Given the description of an element on the screen output the (x, y) to click on. 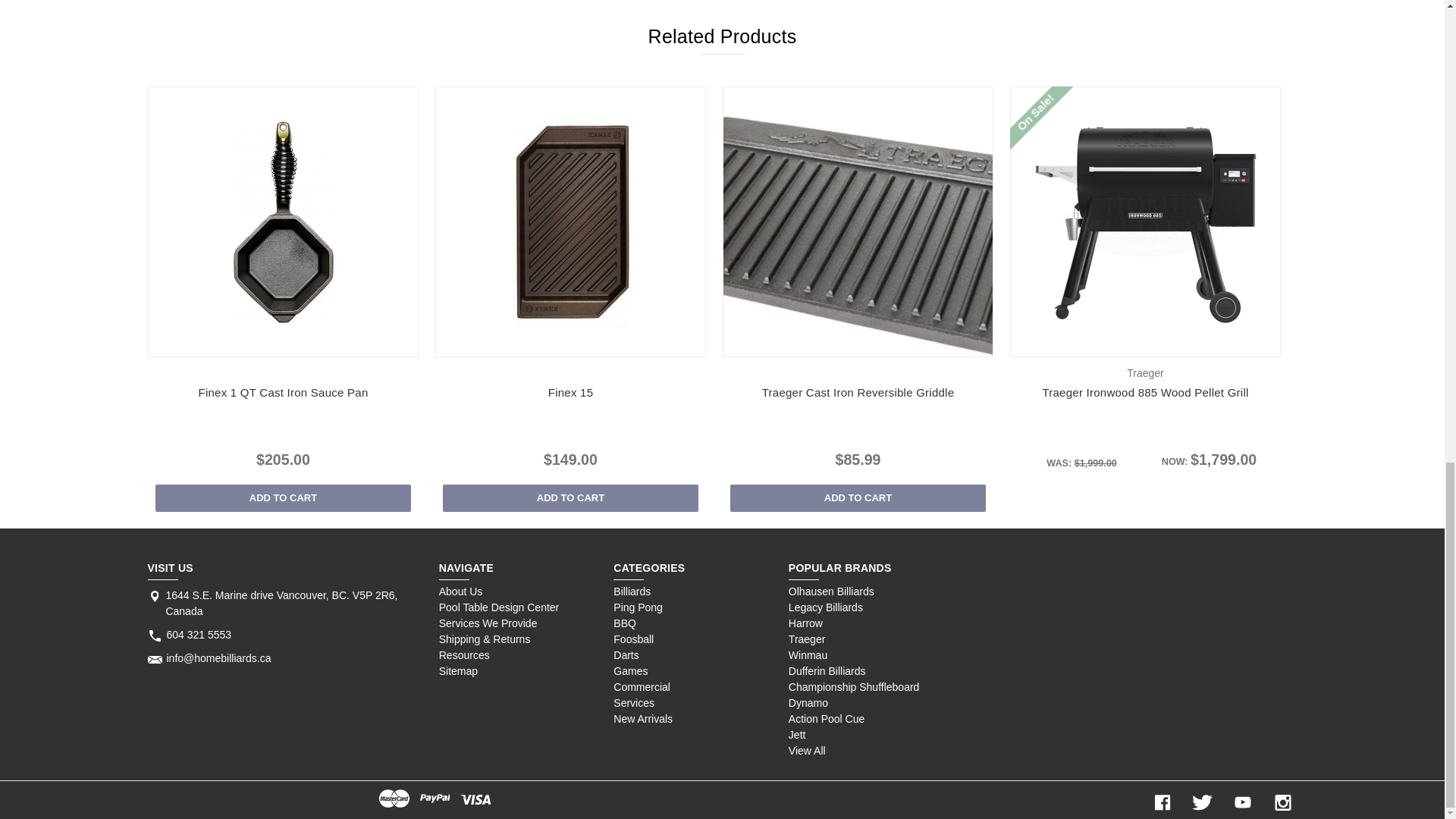
Finex 1 QT Cast Iron Sauce Pan (282, 221)
Finex 15 (569, 221)
Traeger Cast Iron Reversible Griddle (857, 221)
